Given the description of an element on the screen output the (x, y) to click on. 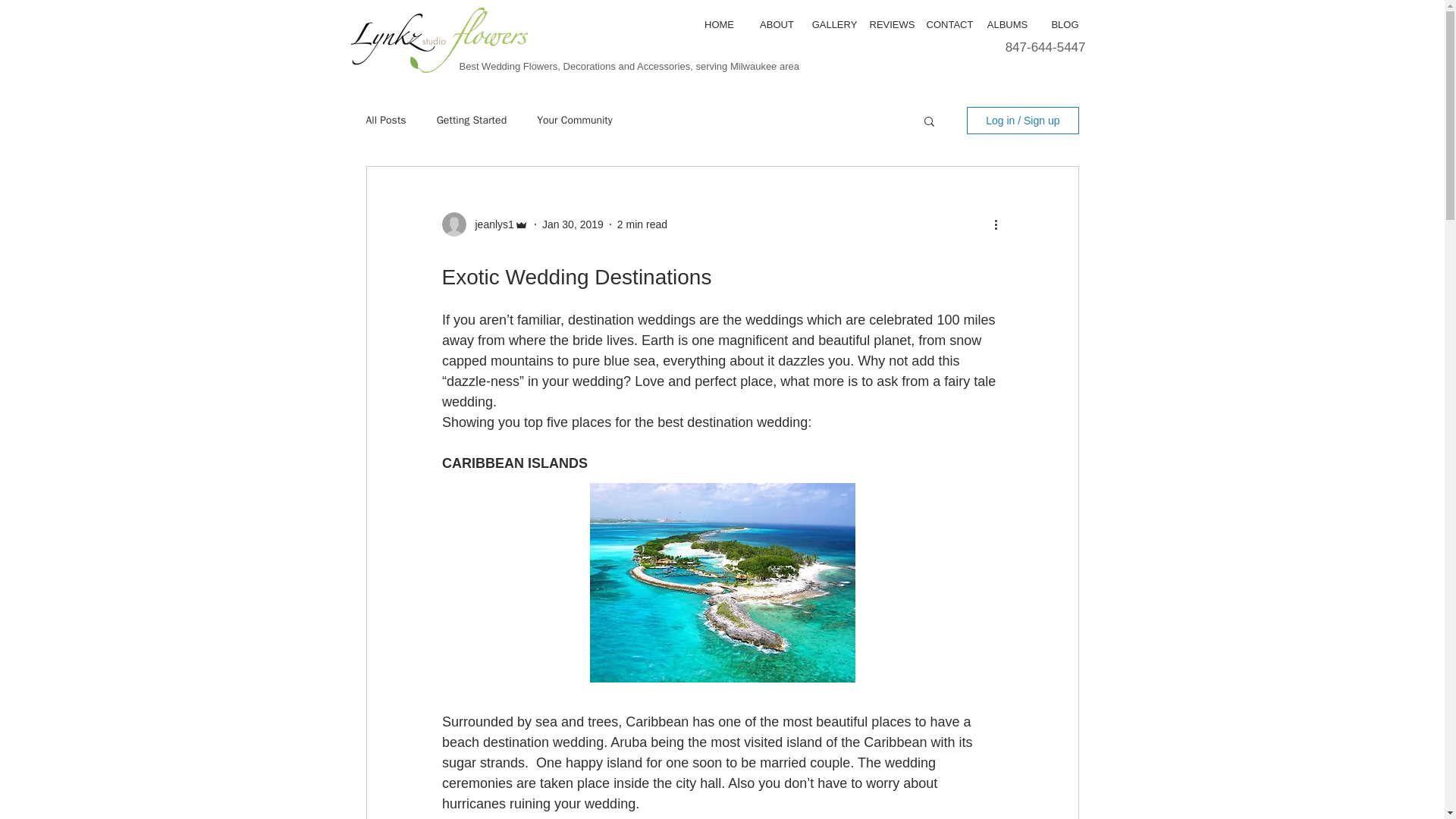
All Posts (385, 120)
ALBUMS (1007, 24)
847-644-5447 (1046, 47)
BLOG (1065, 24)
Your Community (574, 120)
ABOUT (777, 24)
Getting Started (471, 120)
CONTACT (949, 24)
HOME (719, 24)
Jan 30, 2019 (572, 224)
REVIEWS (892, 24)
2 min read (641, 224)
jeanlys1 (489, 224)
